Given the description of an element on the screen output the (x, y) to click on. 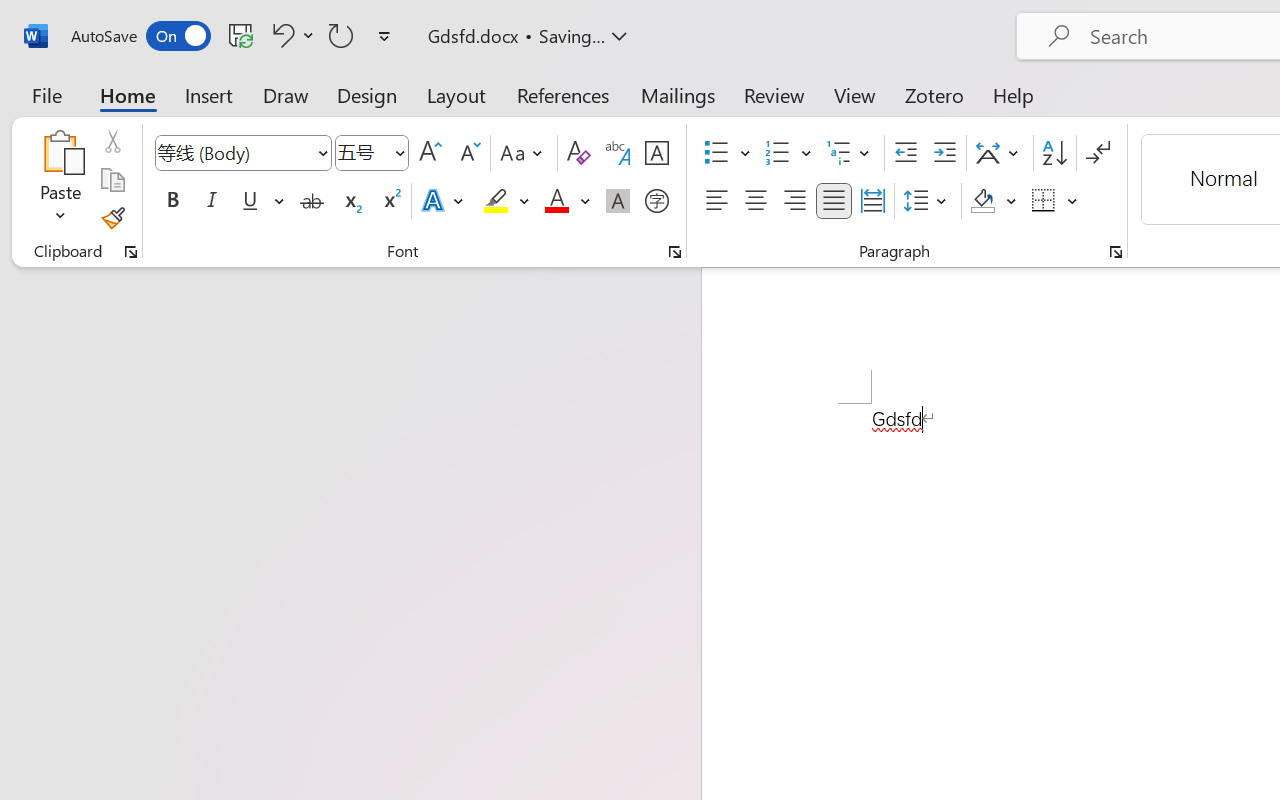
Text Effects and Typography (444, 201)
Asian Layout (1000, 153)
Line and Paragraph Spacing (927, 201)
Shading RGB(0, 0, 0) (982, 201)
Sort... (1054, 153)
Office Clipboard... (131, 252)
Superscript (390, 201)
Character Shading (618, 201)
